Given the description of an element on the screen output the (x, y) to click on. 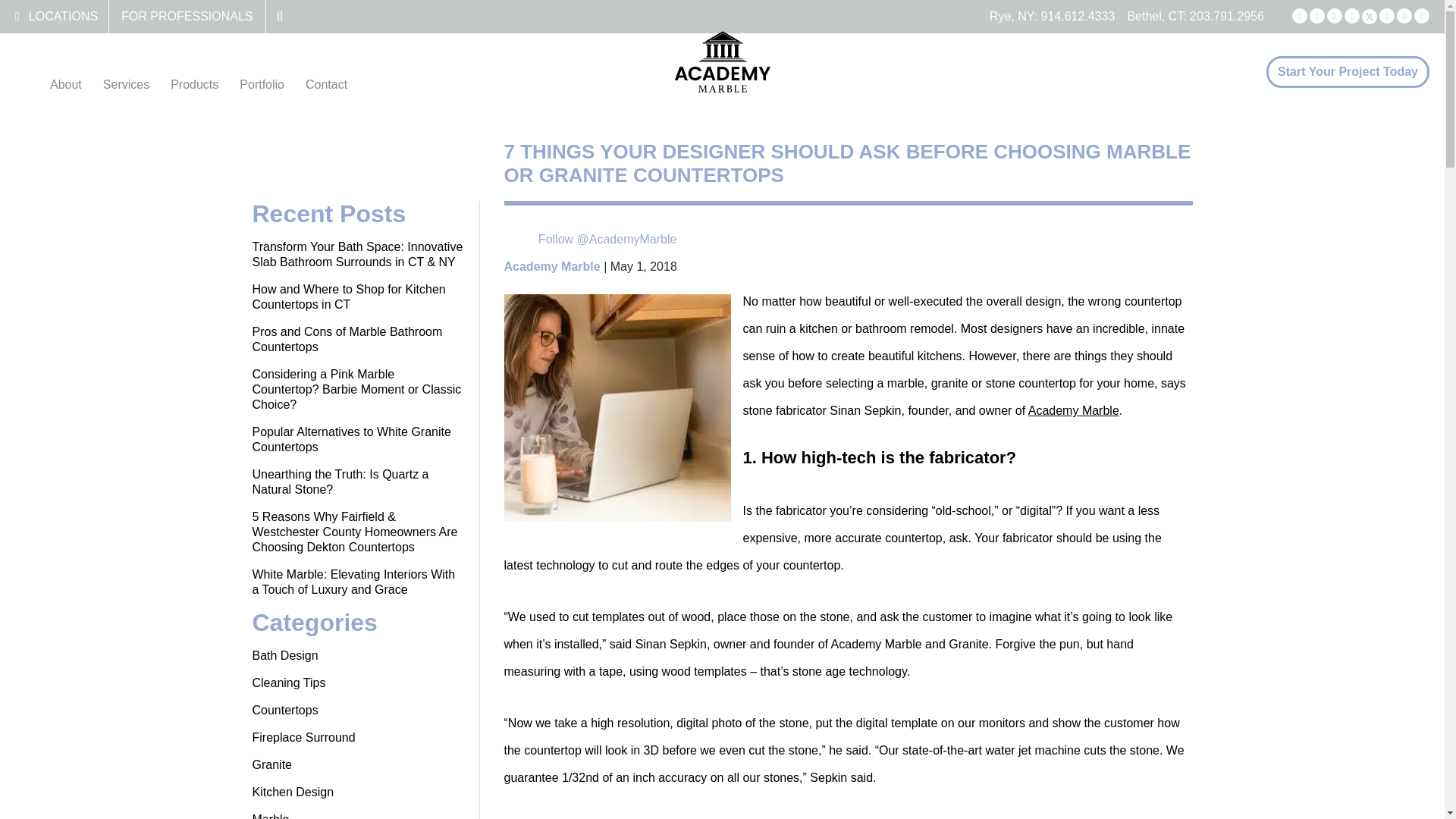
LOCATIONS (63, 15)
FOR PROFESSIONALS (185, 15)
914.612.4333 (1078, 15)
203.791.2956 (1226, 15)
